Given the description of an element on the screen output the (x, y) to click on. 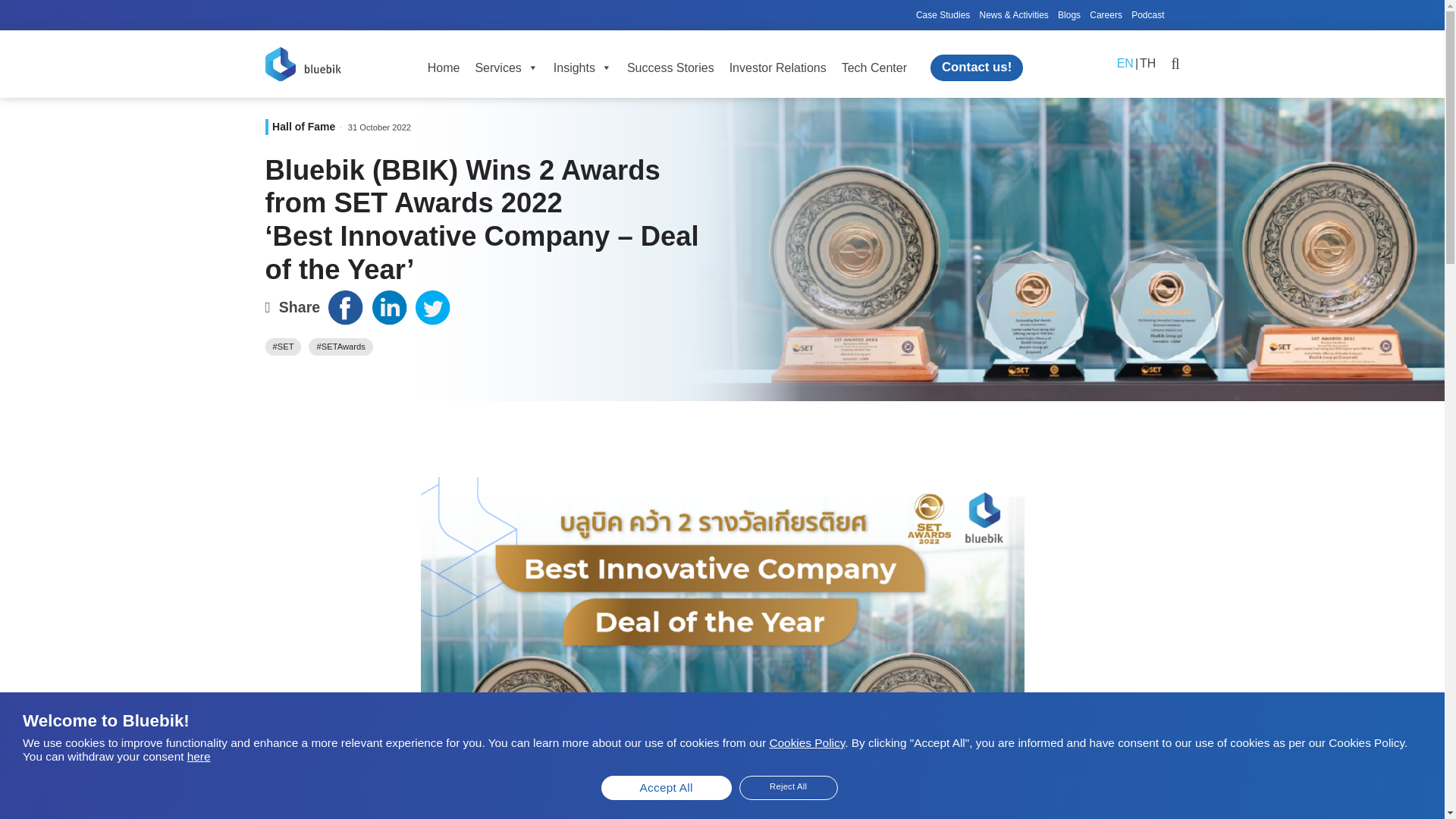
Insights (583, 68)
Success Stories (671, 68)
Podcast (1146, 15)
Careers (1105, 15)
EN (1125, 63)
Blogs (1069, 15)
Tech Center (874, 68)
TH (1148, 63)
Case Studies (943, 15)
Services (505, 68)
Investor Relations (778, 68)
Contact us! (976, 67)
Home (443, 68)
Hall of Fame (303, 125)
